Given the description of an element on the screen output the (x, y) to click on. 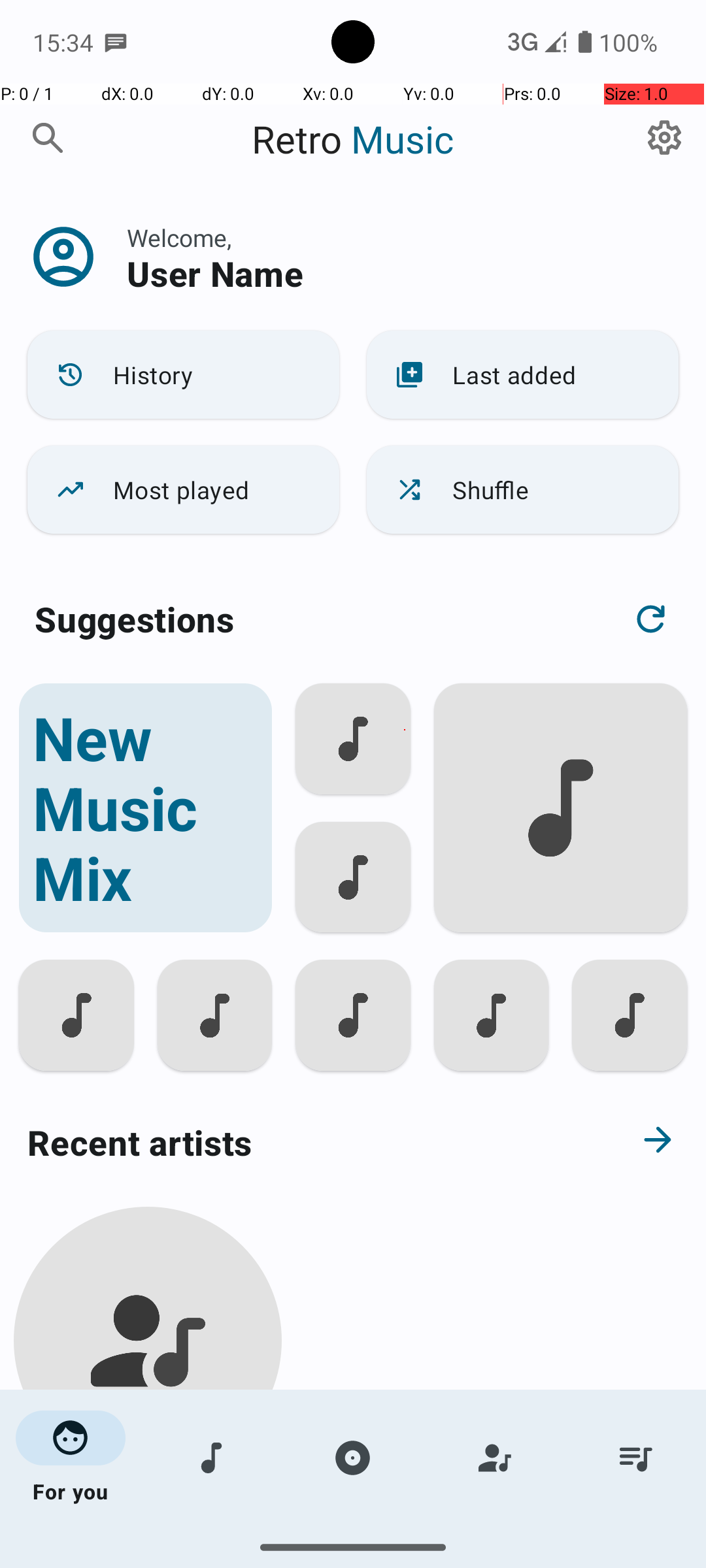
Luca Element type: android.widget.TextView (147, 1503)
